Given the description of an element on the screen output the (x, y) to click on. 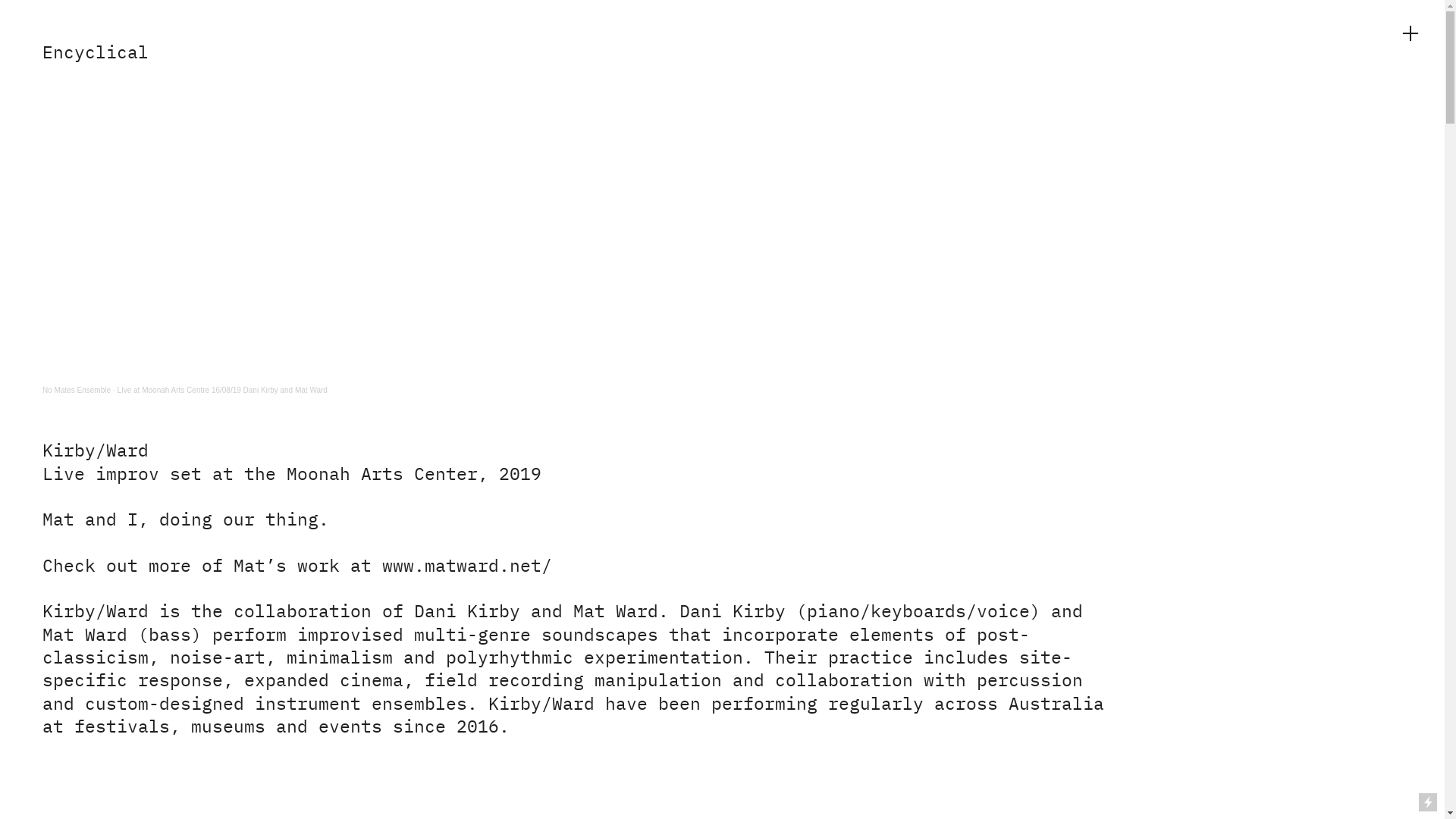
ncyclical Element type: text (100, 53)
No Mates Ensemble Element type: text (76, 390)
LIve at Moonah Arts Centre 16/08/19 Dani Kirby and Mat Ward Element type: text (221, 390)
www.matward.net/ Element type: text (467, 567)
